Given the description of an element on the screen output the (x, y) to click on. 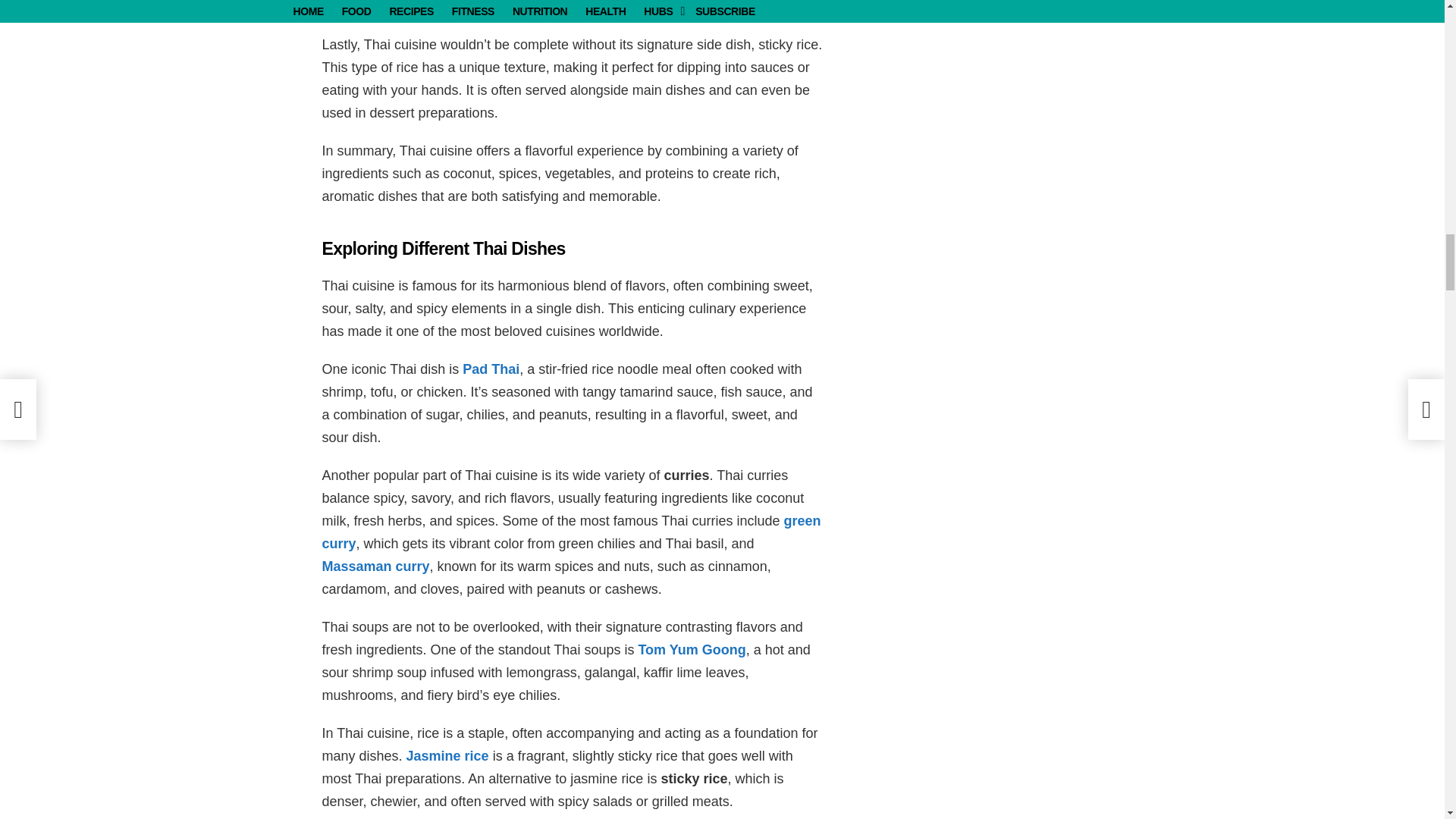
green curry (571, 532)
Jasmine rice (447, 755)
Pad Thai (491, 368)
Massaman curry (375, 566)
Tom Yum Goong (691, 649)
